Given the description of an element on the screen output the (x, y) to click on. 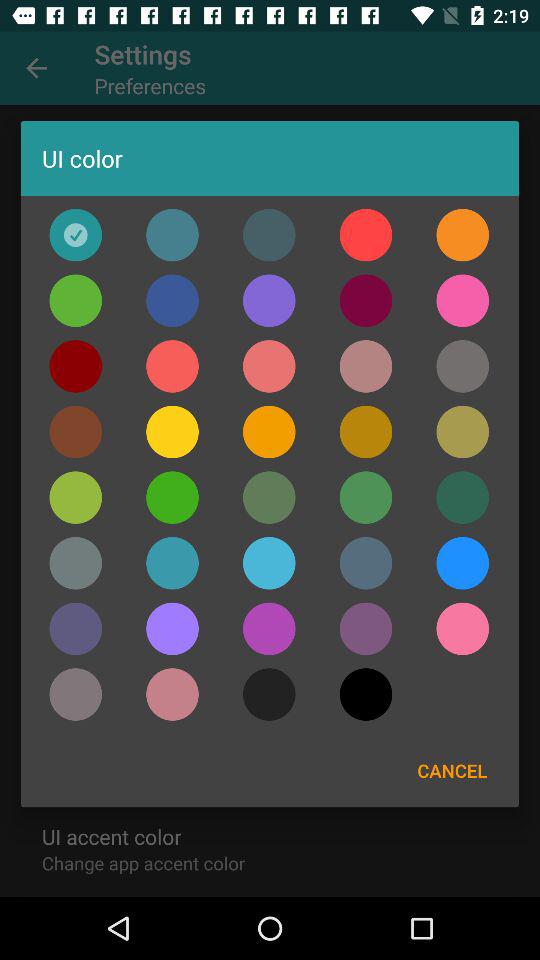
choose color option (75, 628)
